Given the description of an element on the screen output the (x, y) to click on. 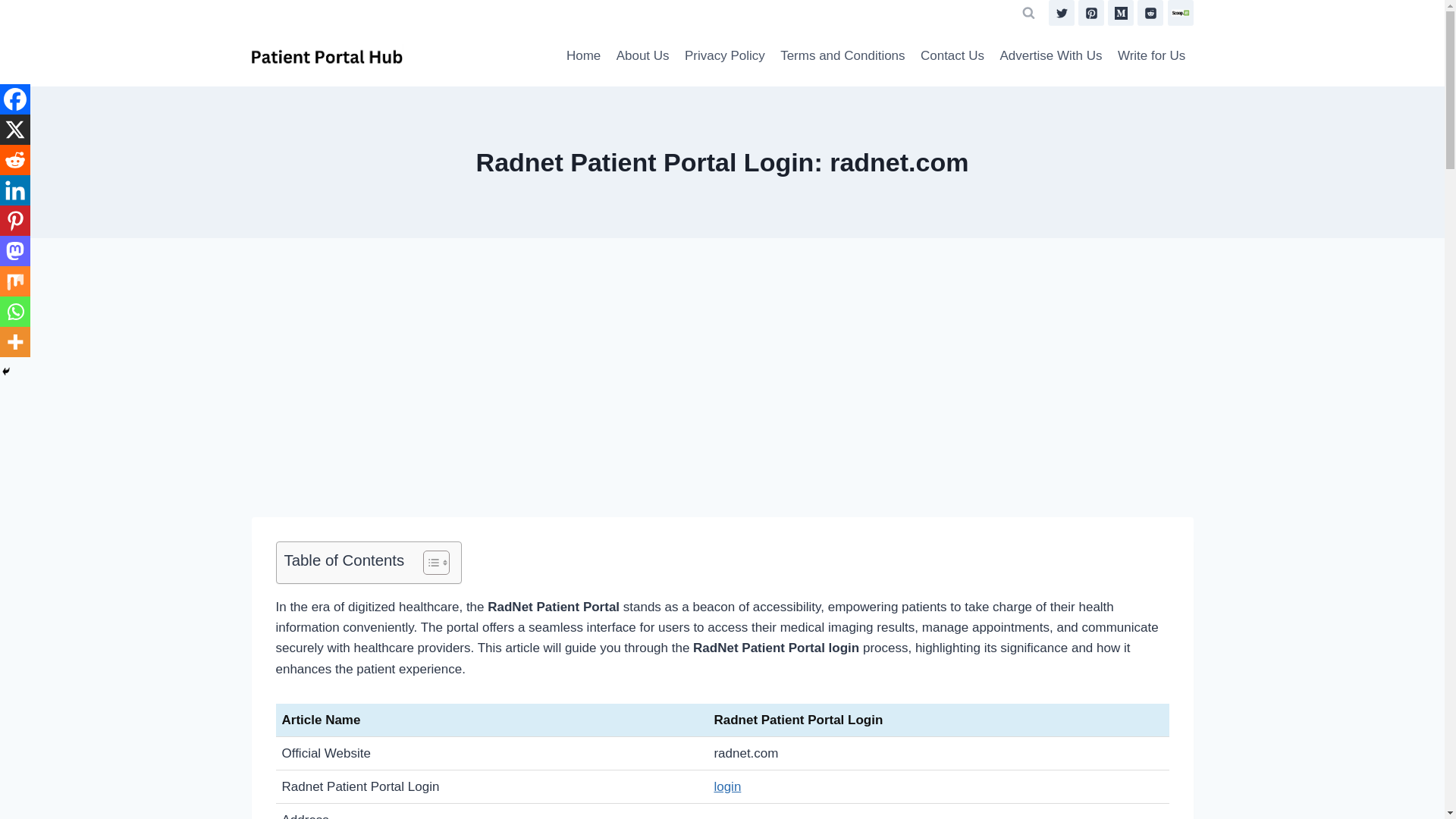
About Us (642, 55)
Home (583, 55)
login (727, 786)
Advertise With Us (1050, 55)
Privacy Policy (725, 55)
Contact Us (951, 55)
Write for Us (1151, 55)
Terms and Conditions (842, 55)
